Given the description of an element on the screen output the (x, y) to click on. 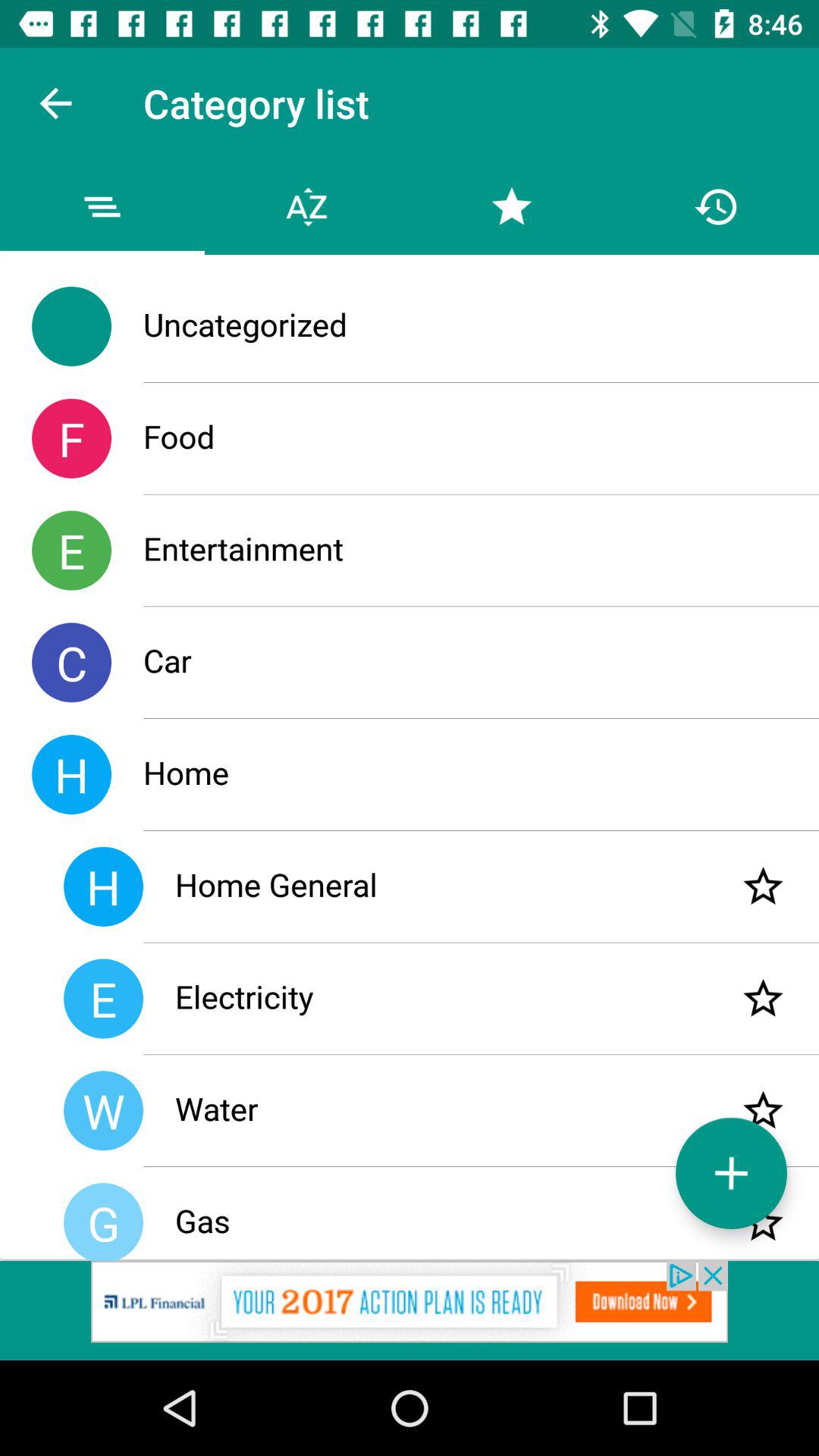
favorite option unchecked (763, 1110)
